Given the description of an element on the screen output the (x, y) to click on. 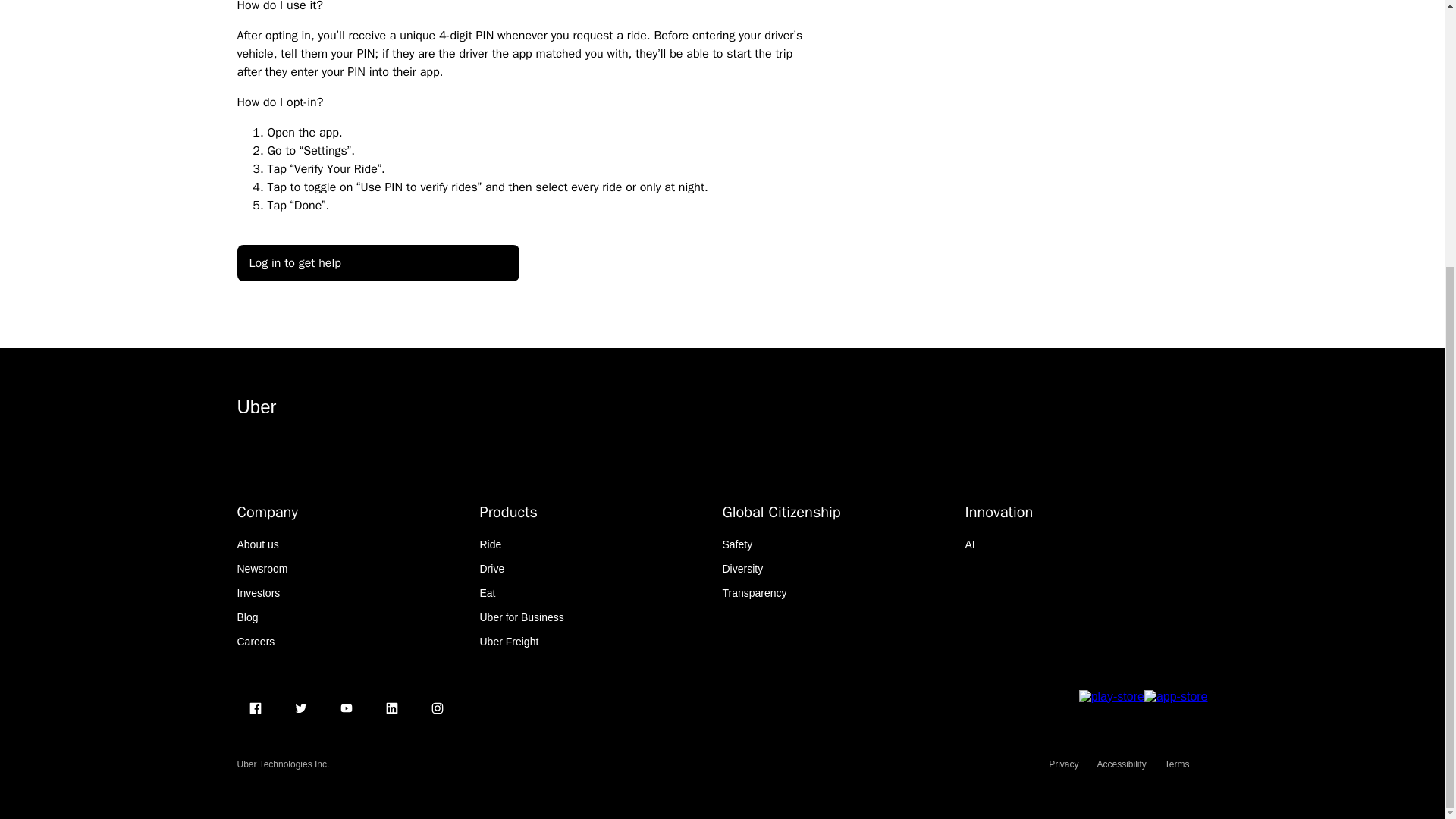
Investors (257, 592)
Transparency (754, 592)
Newsroom (260, 568)
Blog (246, 616)
Uber Freight (508, 641)
About us (256, 544)
Ride (489, 544)
Careers (255, 641)
Drive (491, 568)
Diversity (742, 568)
